Given the description of an element on the screen output the (x, y) to click on. 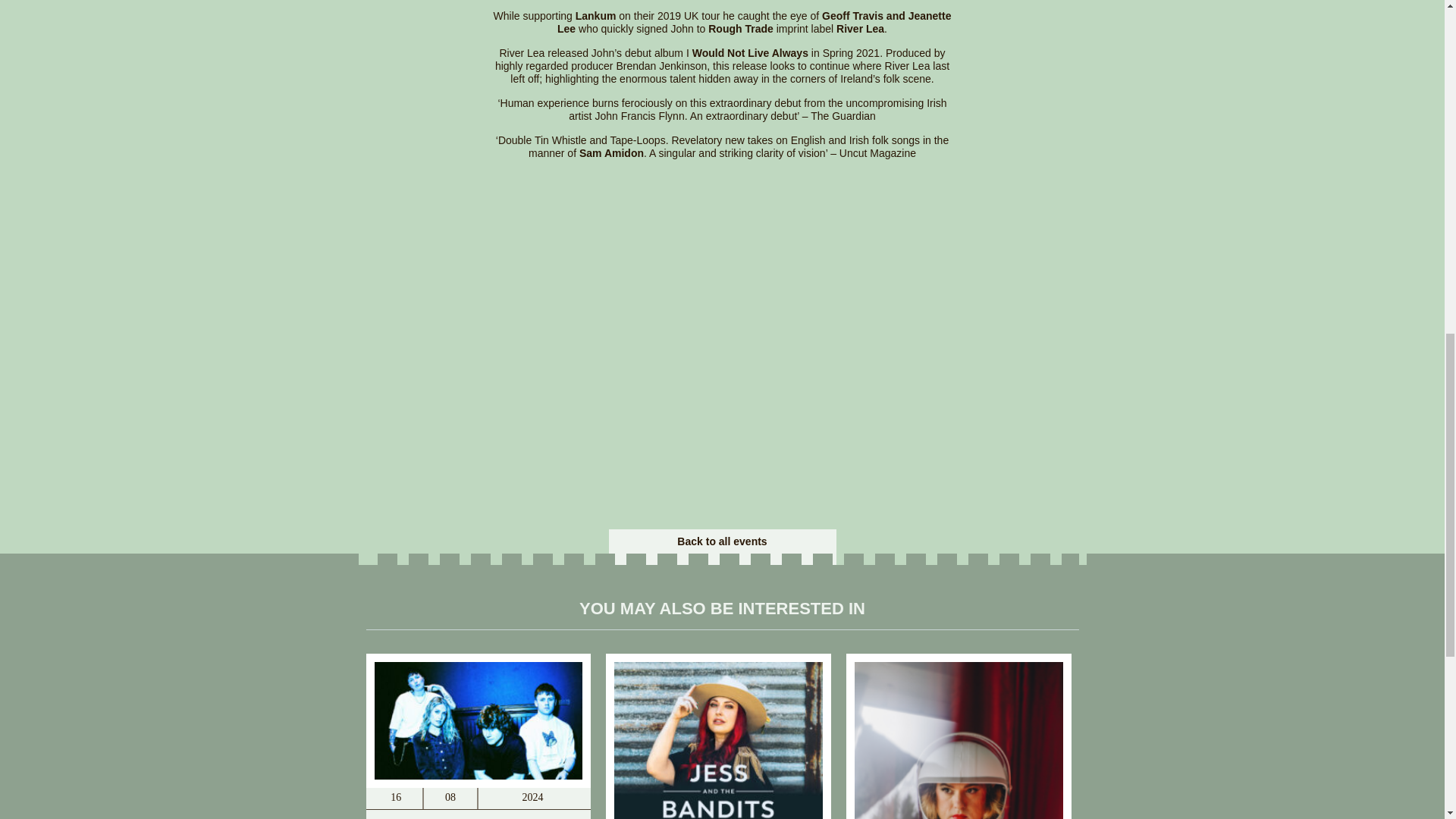
Back to all events (722, 541)
